Given the description of an element on the screen output the (x, y) to click on. 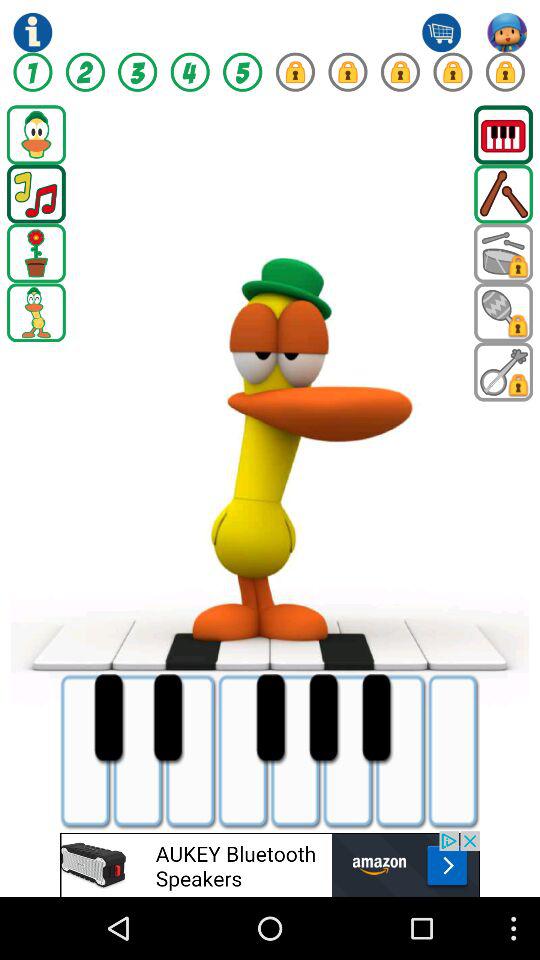
unlock next level (295, 71)
